Given the description of an element on the screen output the (x, y) to click on. 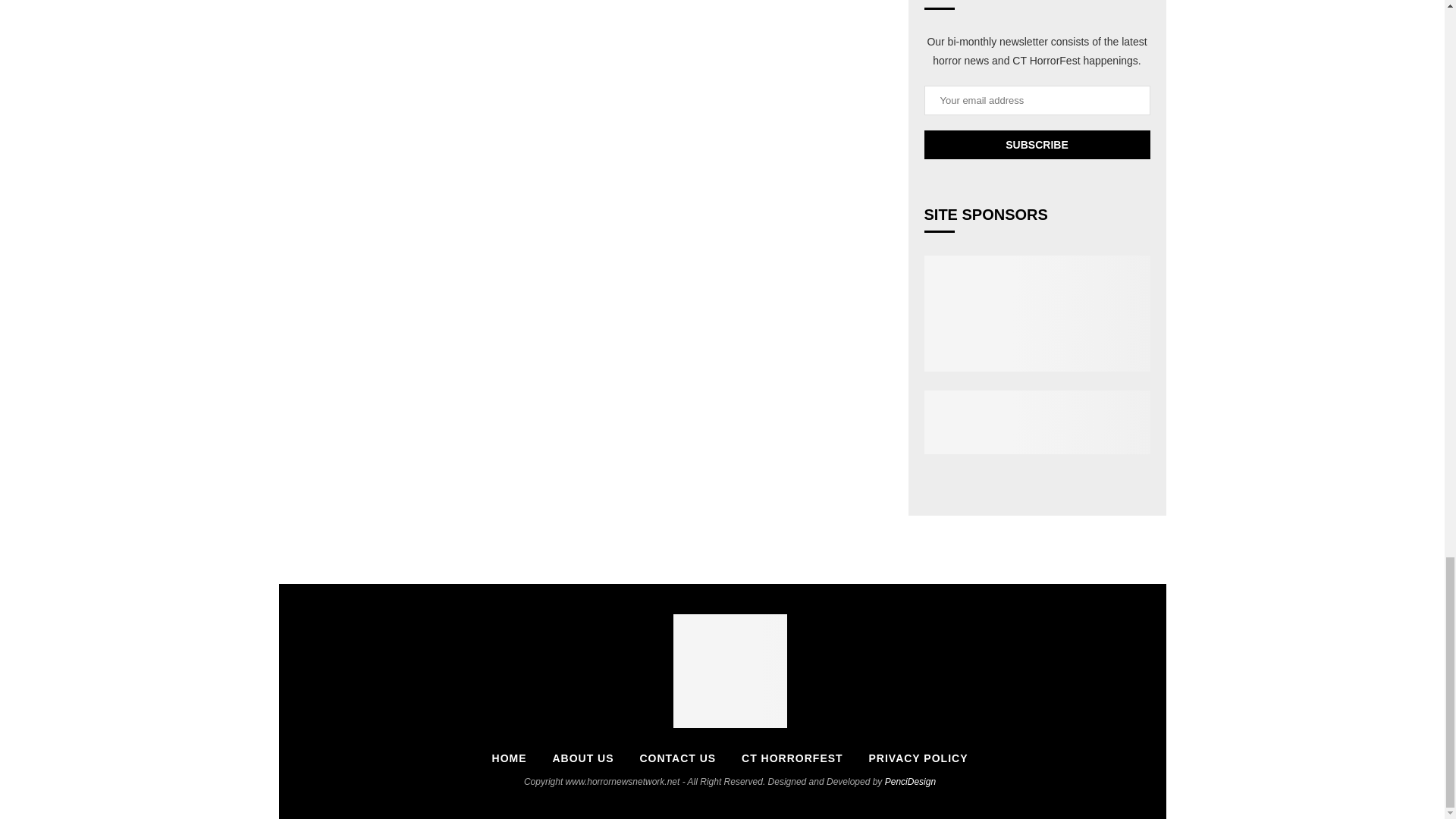
Subscribe (1036, 144)
